Given the description of an element on the screen output the (x, y) to click on. 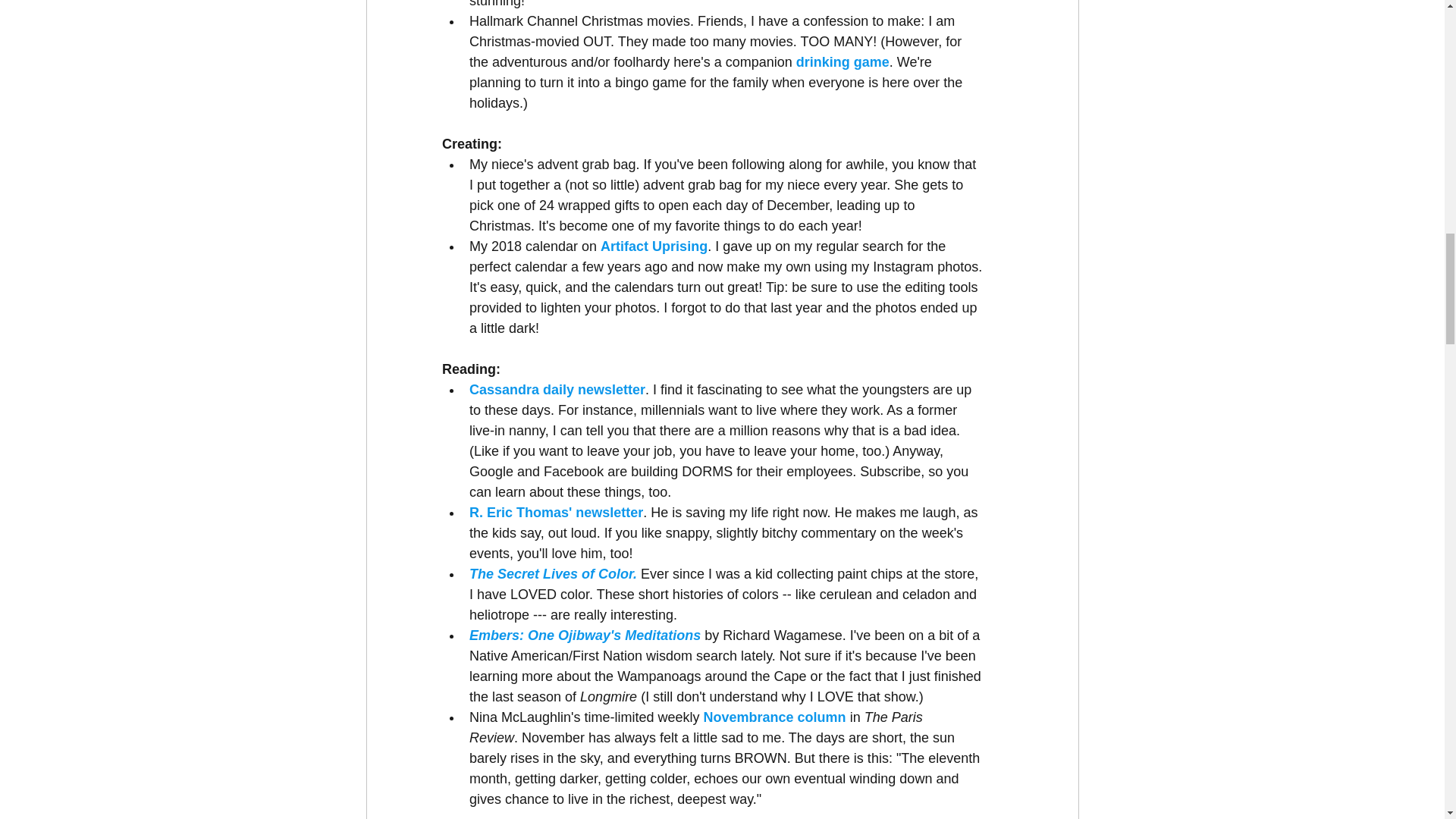
Novembrance column (774, 717)
The Secret Lives of Color. (552, 573)
Embers: One Ojibway's Meditations (584, 635)
Cassandra daily newsletter (556, 389)
 drinking game (840, 61)
R. Eric Thomas' newsletter (555, 512)
Artifact Uprising (653, 246)
